Given the description of an element on the screen output the (x, y) to click on. 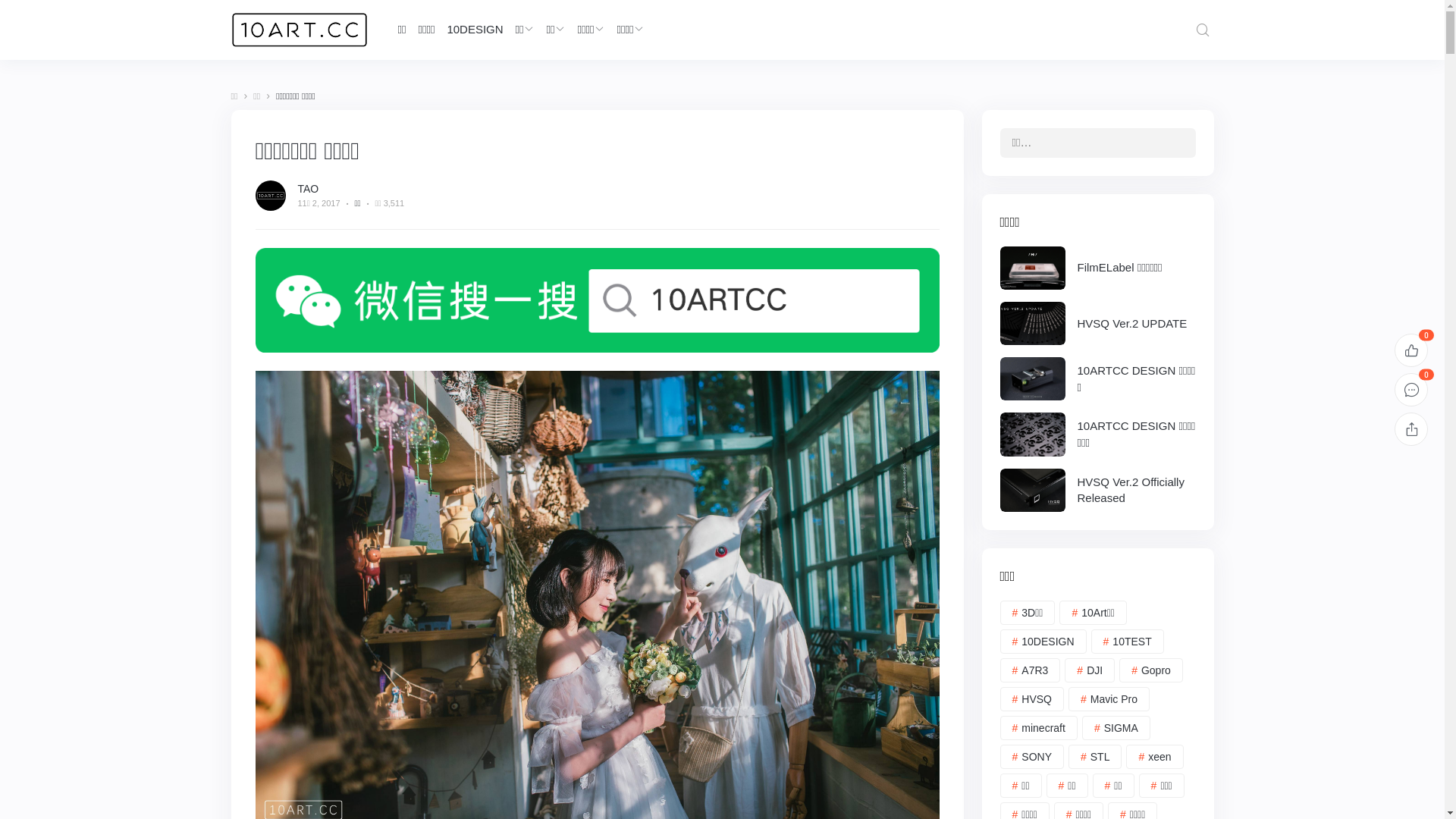
10DESIGN Element type: text (474, 29)
10DESIGN Element type: text (1042, 641)
xeen Element type: text (1154, 756)
HVSQ Ver.2 Officially Released Element type: hover (1097, 489)
0 Element type: text (1410, 350)
Gopro Element type: text (1151, 670)
minecraft Element type: text (1037, 727)
HVSQ Element type: text (1031, 699)
SIGMA Element type: text (1116, 727)
10TEST Element type: text (1127, 641)
HVSQ Ver.2 UPDATE Element type: hover (1097, 323)
DJI Element type: text (1089, 670)
STL Element type: text (1094, 756)
0 Element type: text (1410, 389)
Mavic Pro Element type: text (1108, 699)
SONY Element type: text (1031, 756)
TAO Element type: text (307, 188)
A7R3 Element type: text (1029, 670)
